Given the description of an element on the screen output the (x, y) to click on. 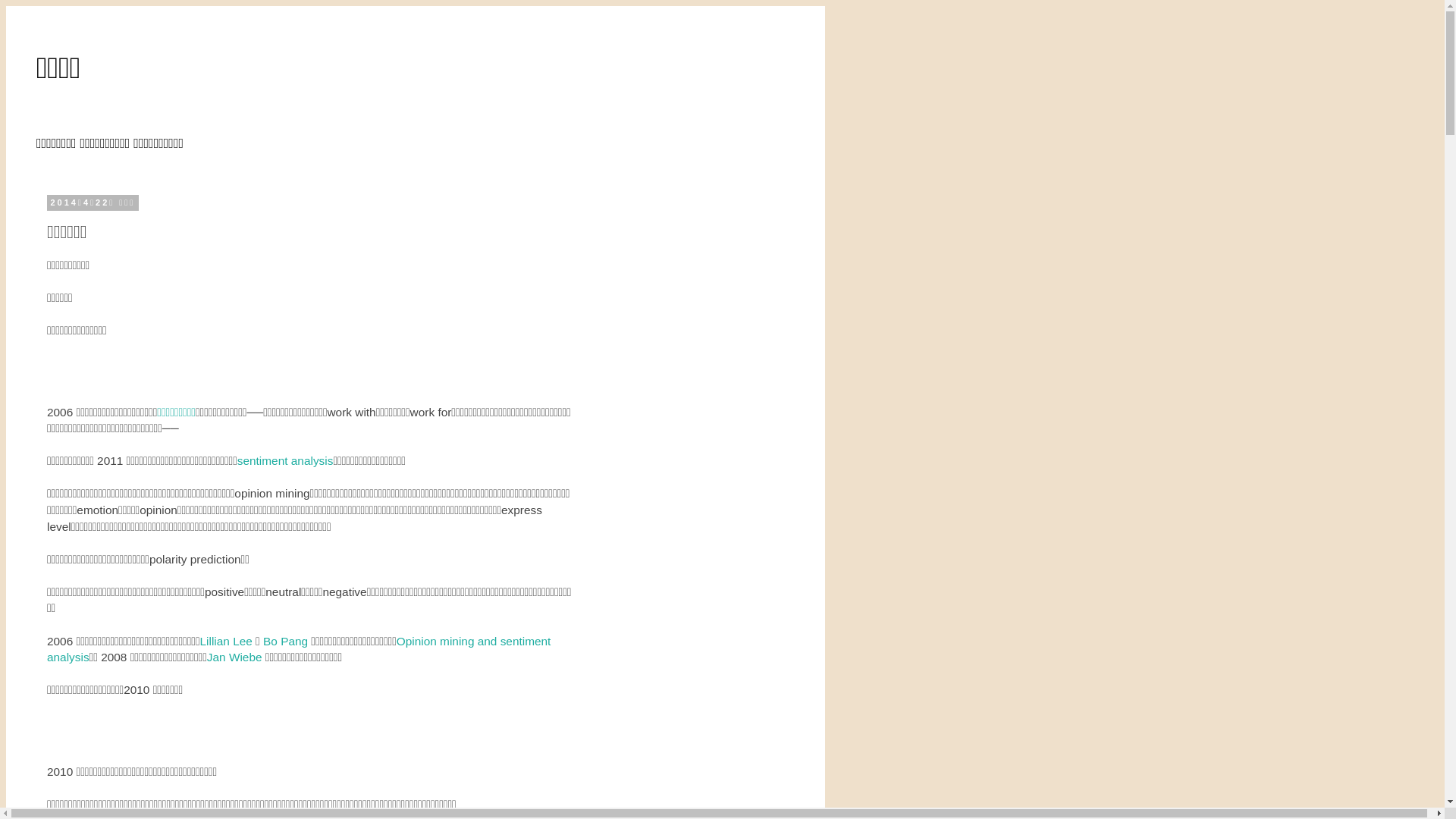
Bo Pang Element type: text (285, 640)
Opinion mining and sentiment analysis Element type: text (298, 649)
Lillian Lee Element type: text (226, 640)
sentiment analysis Element type: text (285, 460)
Jan Wiebe Element type: text (234, 656)
